Given the description of an element on the screen output the (x, y) to click on. 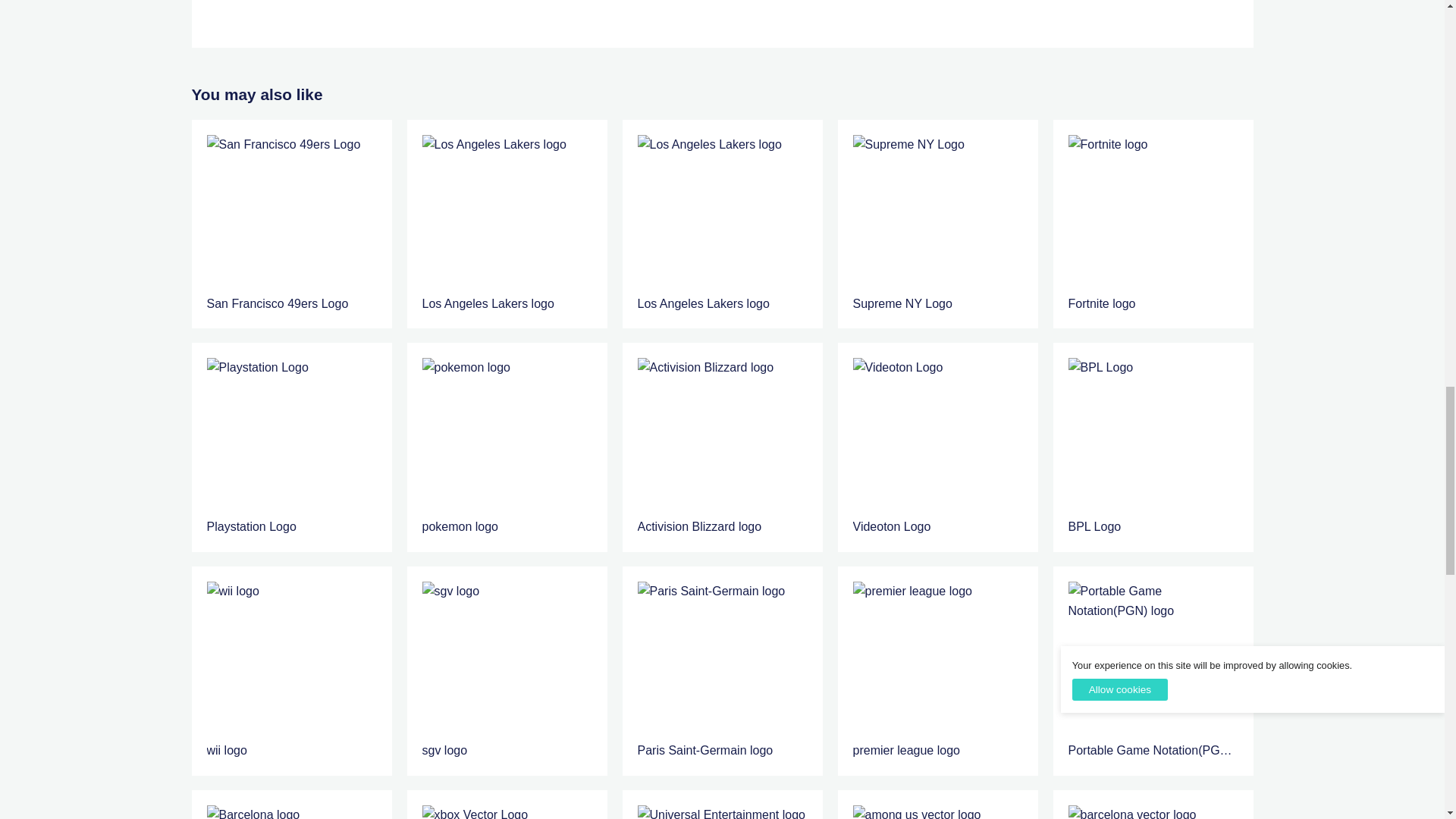
Fortnite logo (1152, 224)
Fortnite logo (1152, 214)
Los Angeles Lakers logo (506, 214)
San Francisco 49ers Logo (290, 214)
pokemon logo (506, 447)
Playstation Logo (290, 447)
Playstation Logo (290, 436)
Los Angeles Lakers logo (721, 224)
Supreme NY Logo (936, 214)
Los Angeles Lakers logo (721, 214)
Supreme NY Logo (936, 224)
San Francisco 49ers Logo (290, 224)
Los Angeles Lakers logo (506, 224)
